Given the description of an element on the screen output the (x, y) to click on. 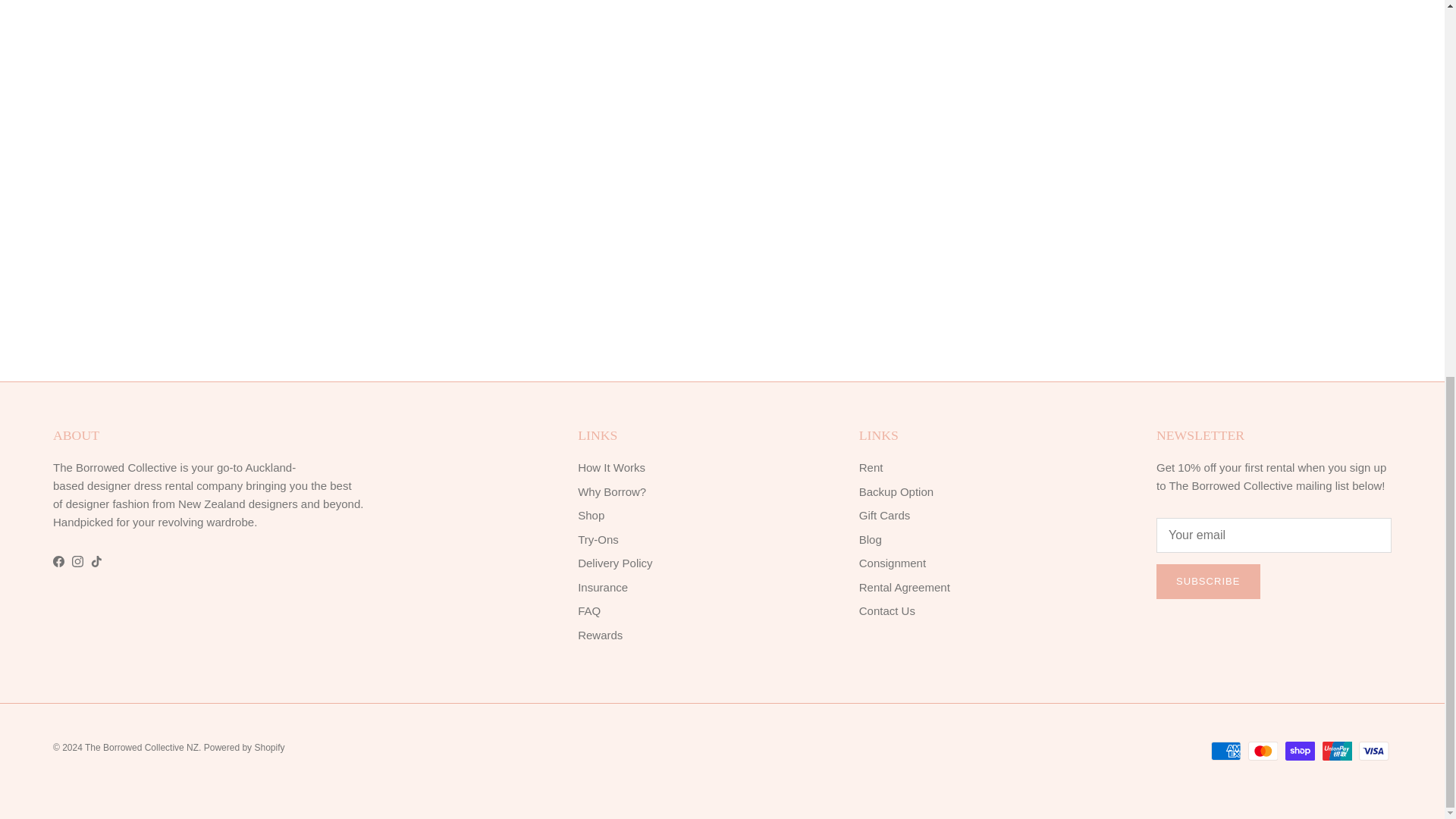
The Borrowed Collective NZ on TikTok (95, 561)
Union Pay (1337, 751)
Shop Pay (1299, 751)
American Express (1225, 751)
The Borrowed Collective NZ on Facebook (58, 561)
Mastercard (1262, 751)
The Borrowed Collective NZ on Instagram (76, 561)
Visa (1373, 751)
